Given the description of an element on the screen output the (x, y) to click on. 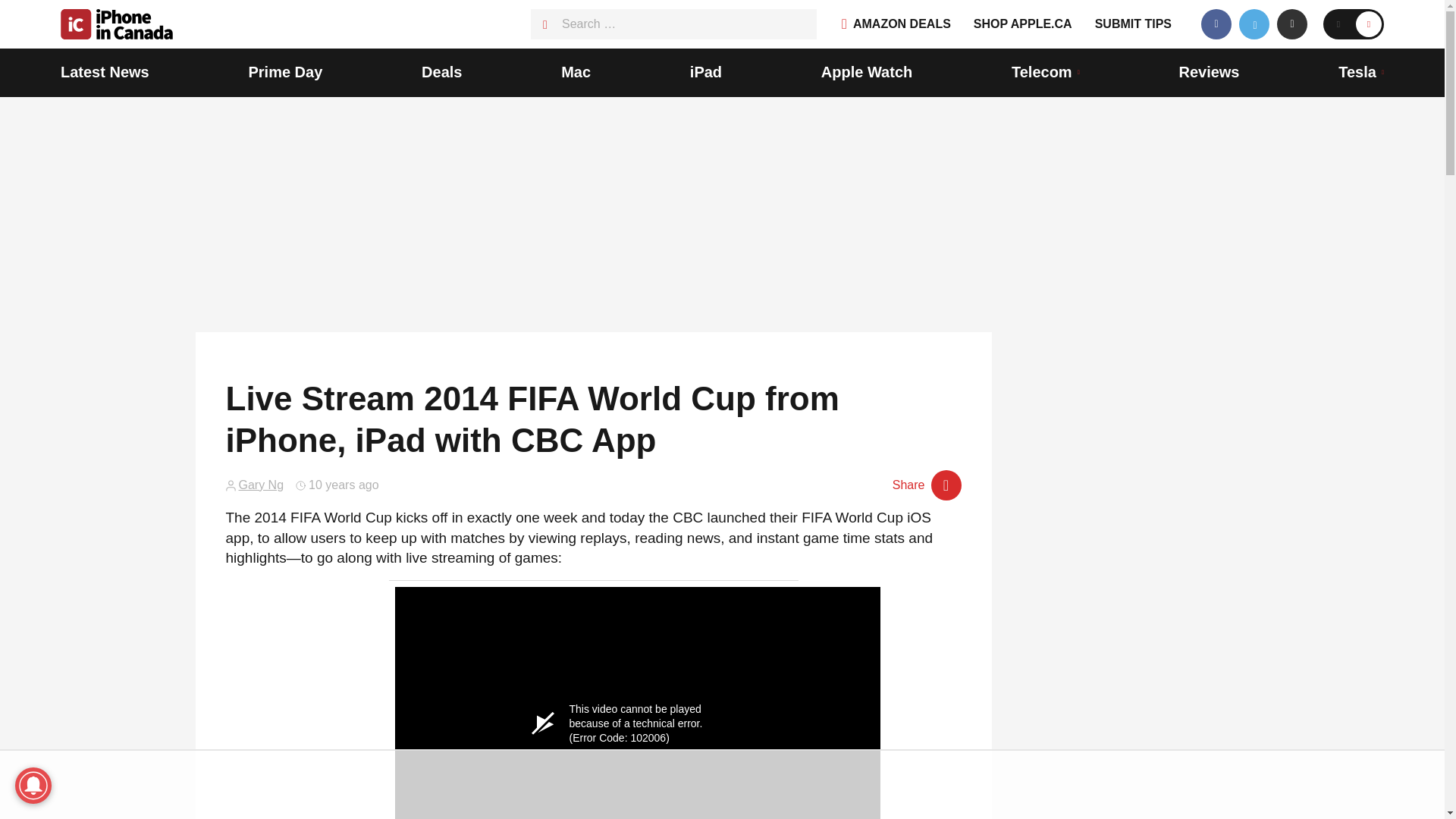
Reviews (1208, 72)
Apple Watch (866, 72)
SUBMIT TIPS (1133, 23)
Share (926, 485)
Latest News (105, 72)
AMAZON DEALS (895, 23)
SHOP APPLE.CA (1022, 23)
Gary Ng (260, 484)
Prime Day (284, 72)
Search for: (673, 24)
